Given the description of an element on the screen output the (x, y) to click on. 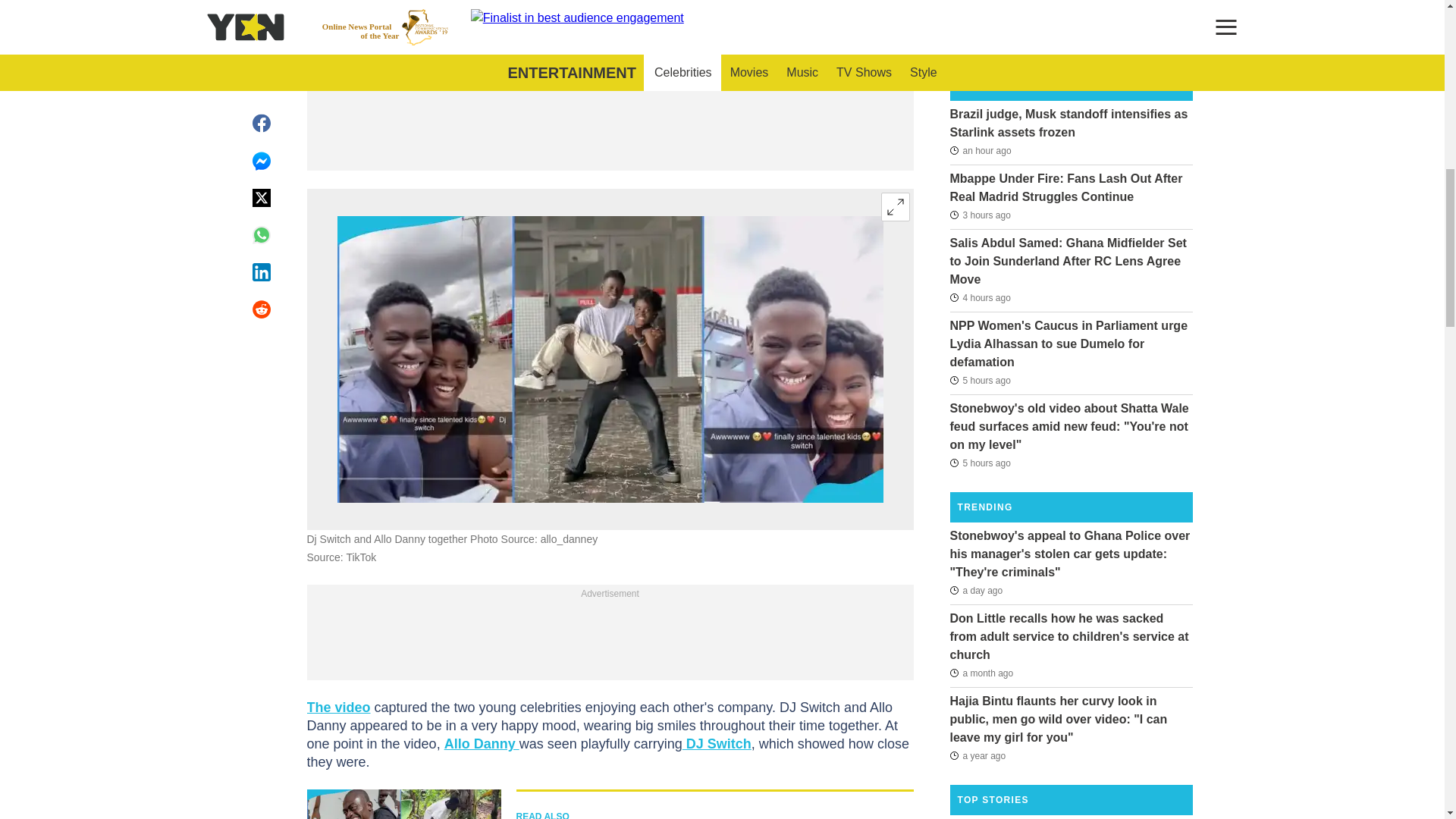
Expand image (895, 206)
2024-08-29T20:51:49Z (979, 297)
2024-07-05T15:21:59Z (981, 673)
2023-06-18T12:55:29Z (977, 755)
2024-08-29T22:19:40Z (979, 215)
2024-08-29T23:50:13Z (979, 149)
2024-08-28T07:55:54Z (976, 589)
2024-08-29T20:29:03Z (979, 380)
2024-08-29T20:23:53Z (979, 462)
